Given the description of an element on the screen output the (x, y) to click on. 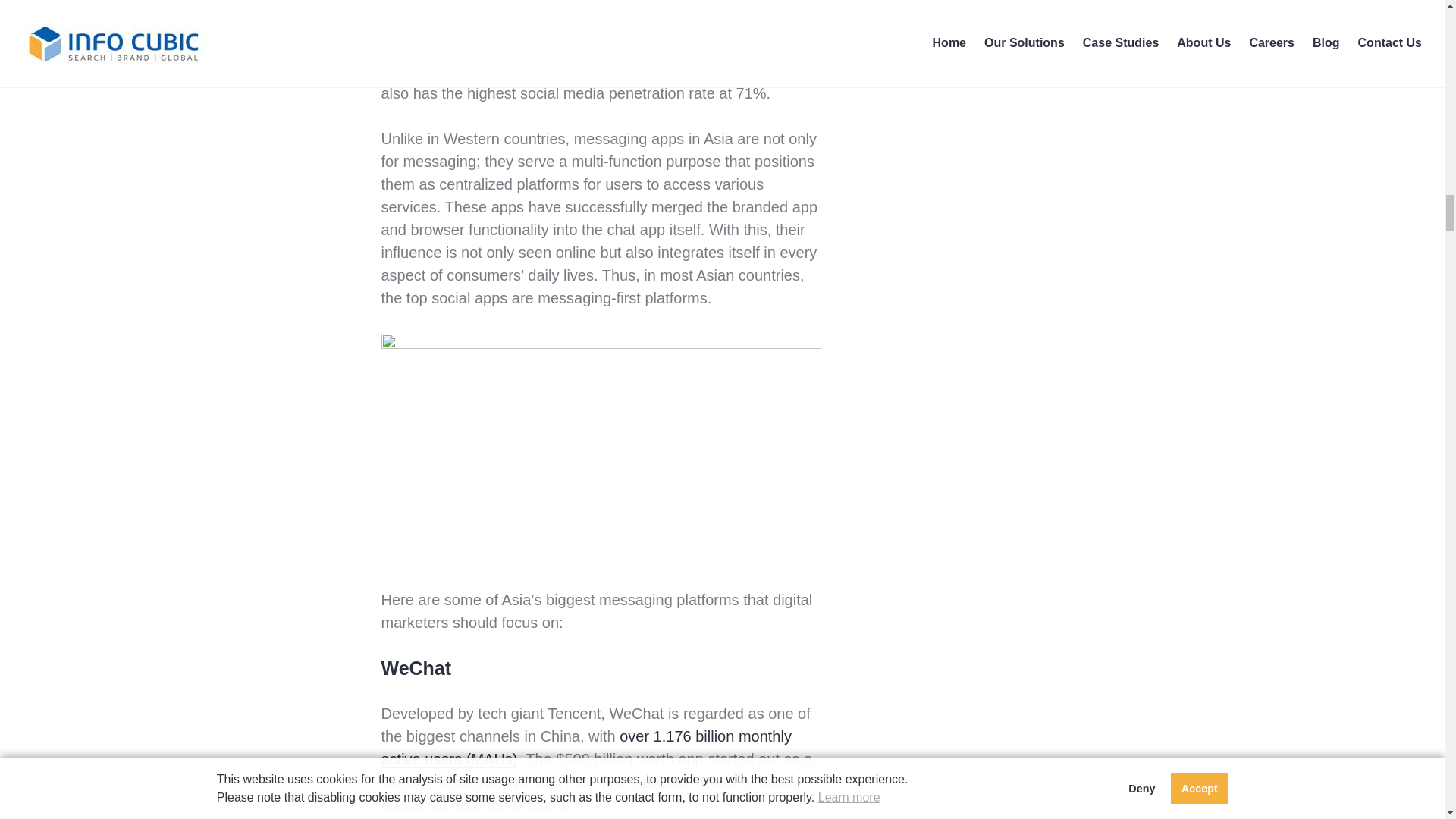
the most social networking users globally (619, 47)
